Given the description of an element on the screen output the (x, y) to click on. 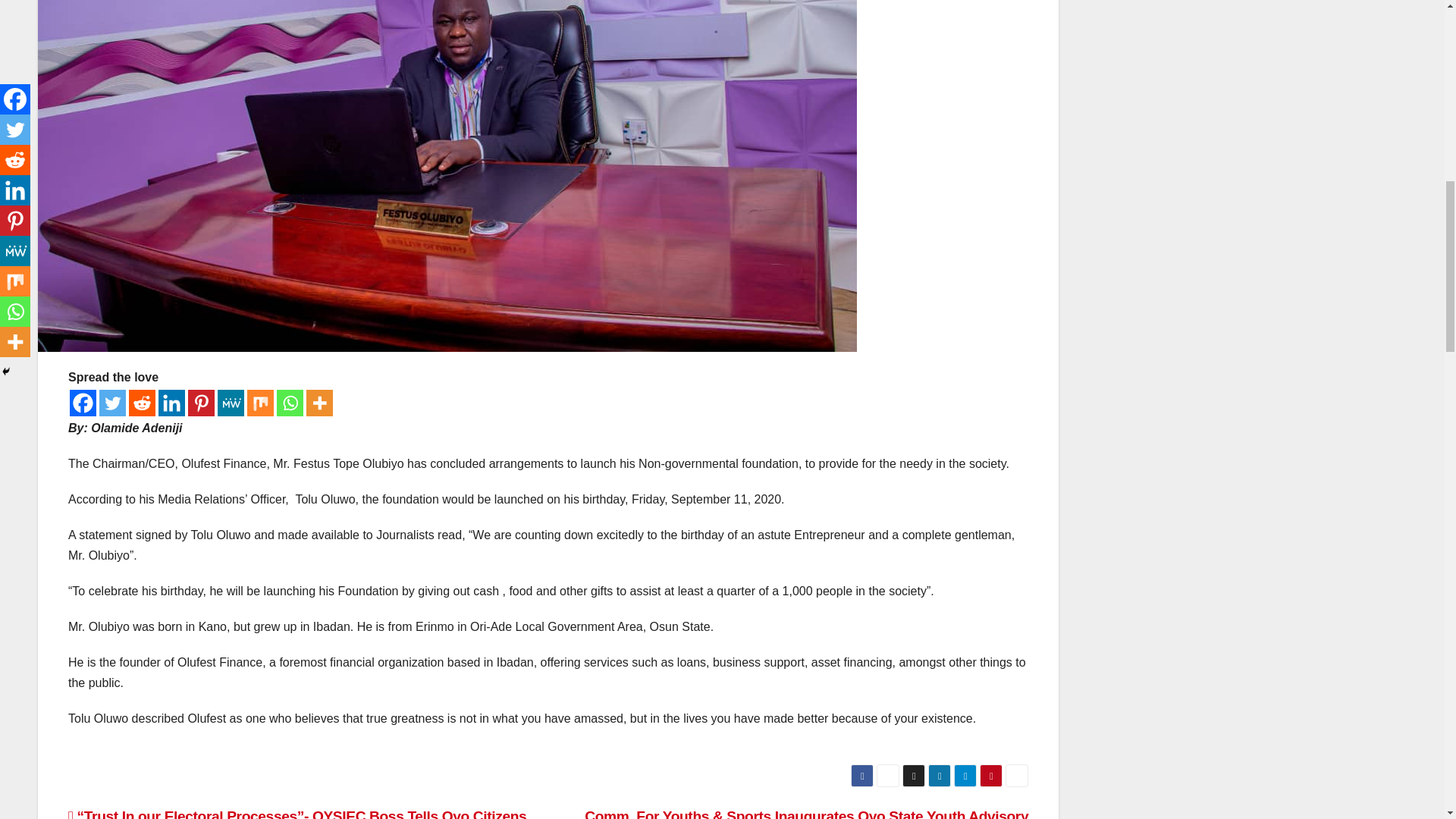
MeWe (230, 402)
Reddit (142, 402)
Linkedin (171, 402)
Pinterest (200, 402)
Facebook (82, 402)
Twitter (112, 402)
